Given the description of an element on the screen output the (x, y) to click on. 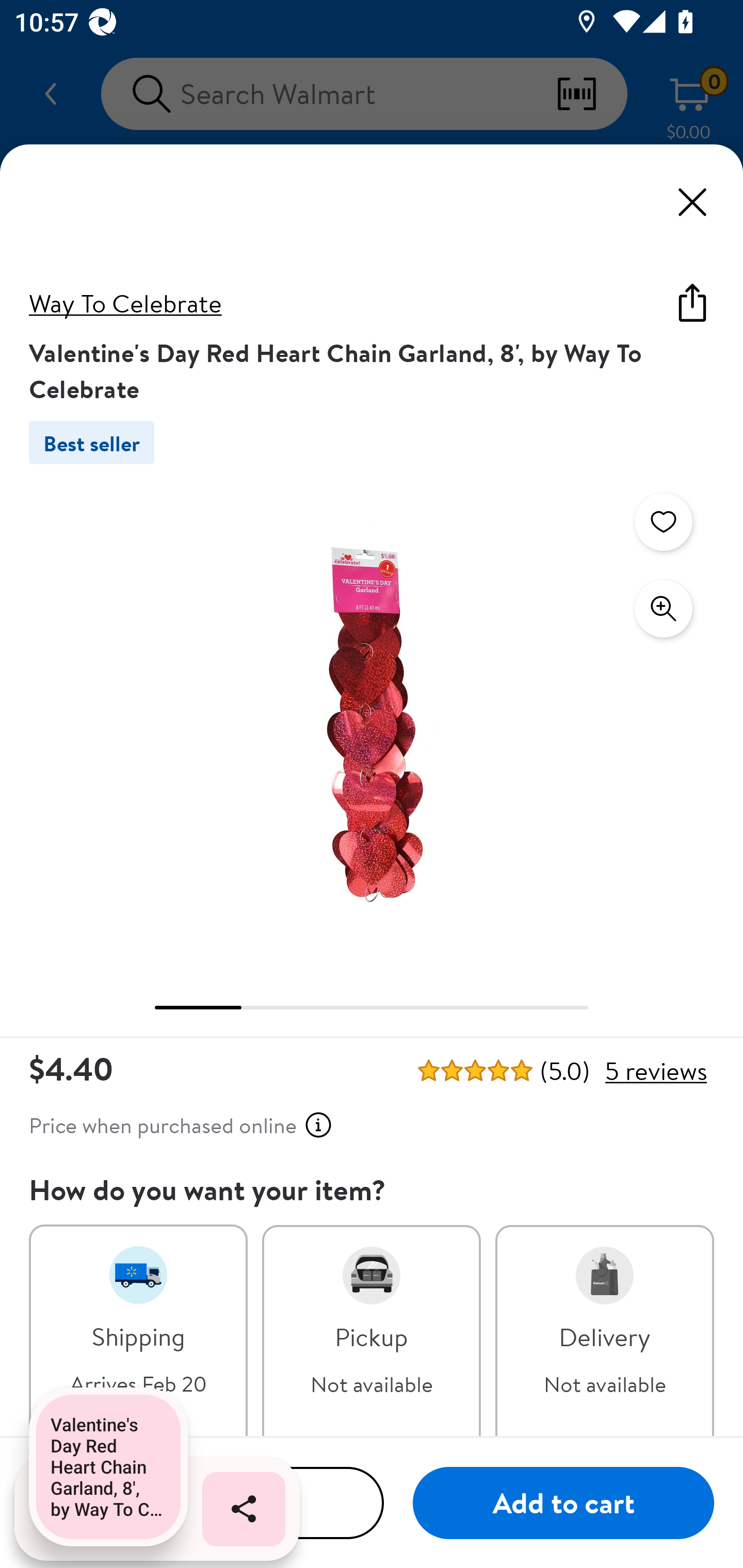
Close (692, 202)
Share item (692, 302)
Image 1 of 5 (371, 723)
Zoom button (663, 609)
5 reviews (655, 1070)
Price when purchased online (180, 1124)
Buy now (206, 1503)
Add to cart (563, 1503)
